Given the description of an element on the screen output the (x, y) to click on. 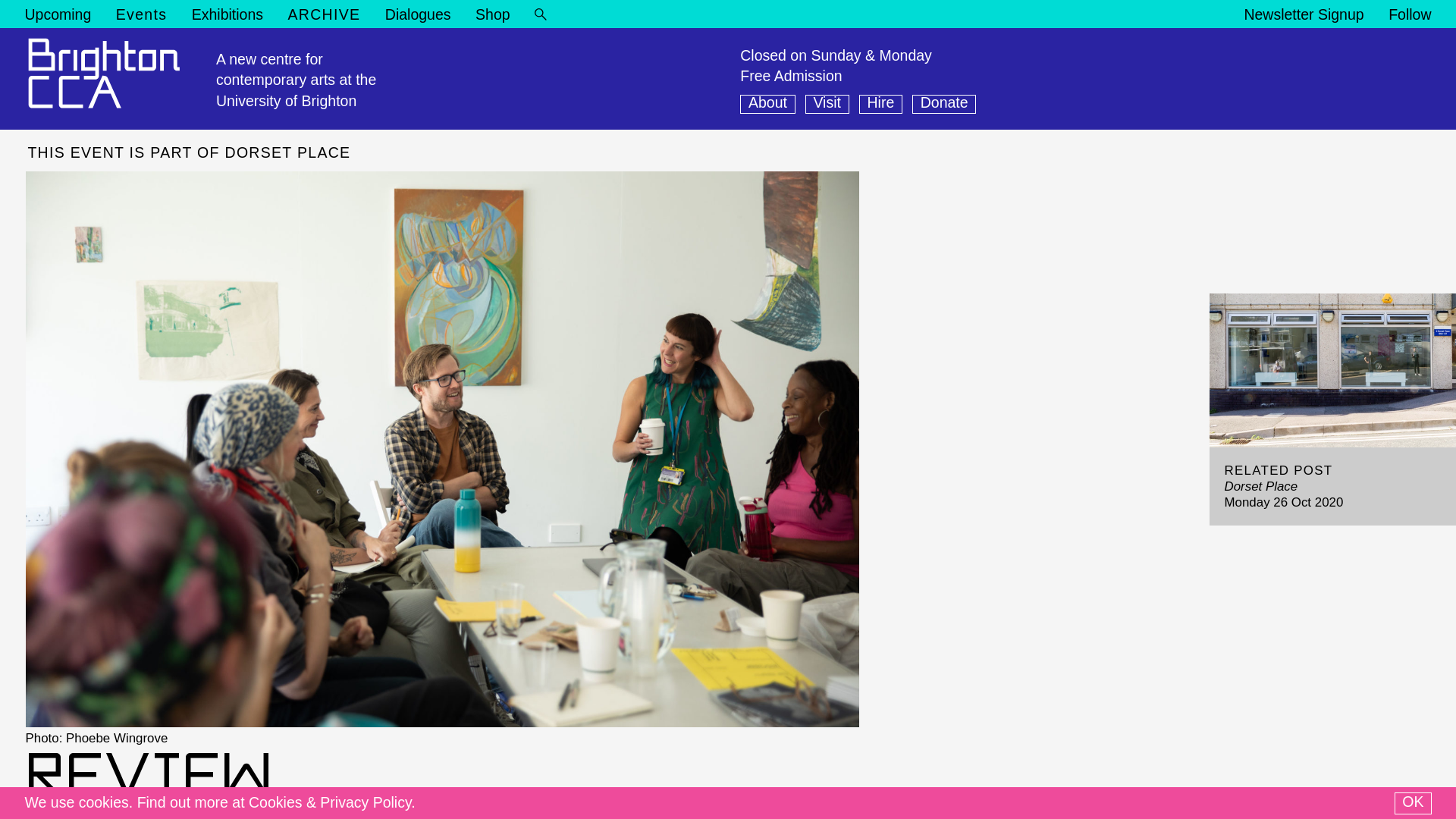
Shop (493, 13)
ARCHIVE (324, 13)
Newsletter Signup (1302, 13)
Upcoming (57, 13)
About (766, 104)
Hire (880, 104)
Dialogues (418, 13)
Donate (943, 104)
Follow (1410, 13)
Symposium (309, 113)
Opportunity (62, 113)
Exhibitions (227, 13)
Exhibition Preview (185, 113)
Events (141, 13)
